Given the description of an element on the screen output the (x, y) to click on. 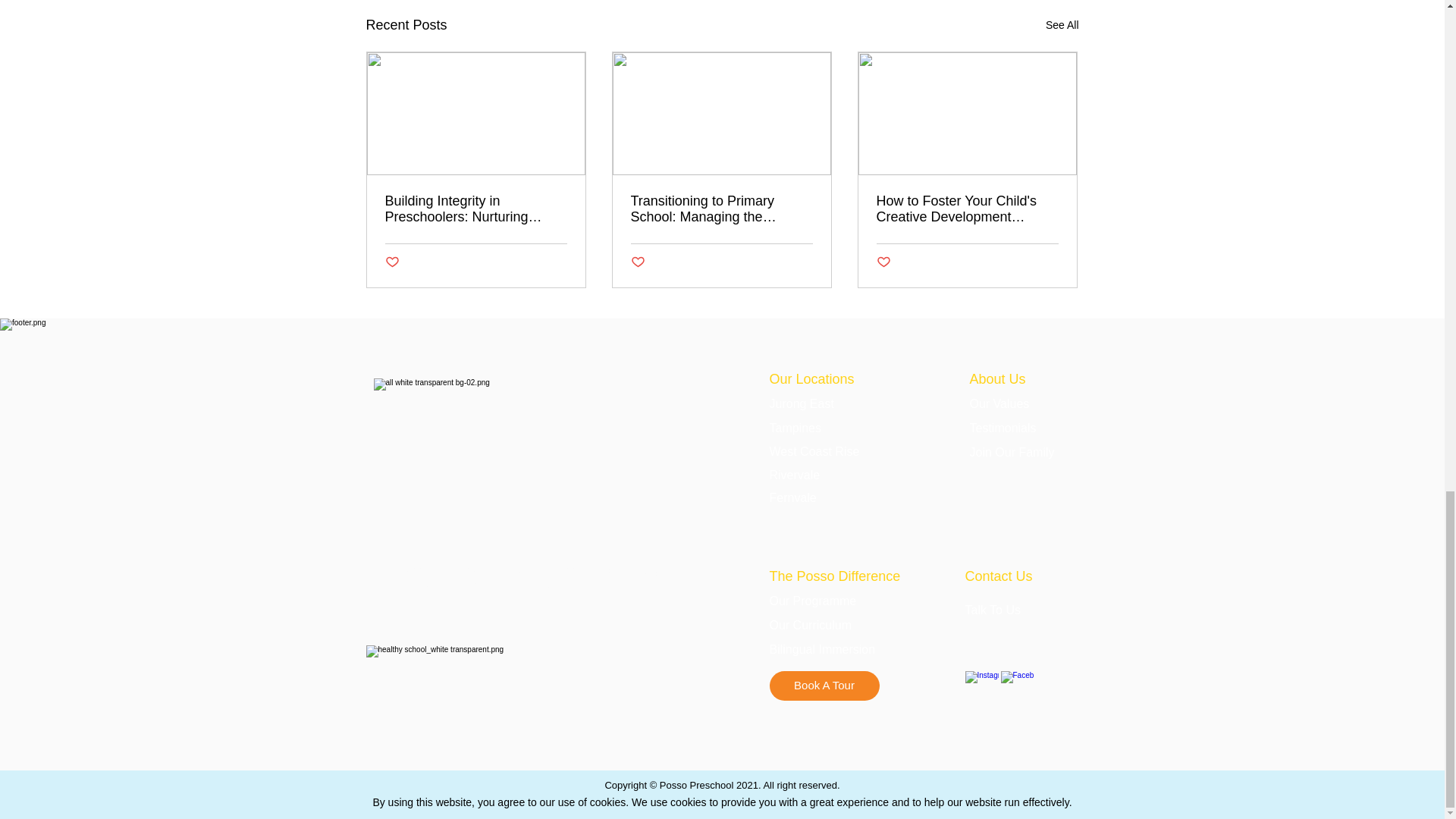
Transitioning to Primary School: Managing the Nervousness (721, 209)
Fernvale (791, 497)
Post not marked as liked (883, 261)
Join Our Family (1011, 451)
Testimonials (1002, 427)
Jurong East (800, 403)
See All (1061, 25)
Tampines (794, 427)
Our Values (999, 403)
